Given the description of an element on the screen output the (x, y) to click on. 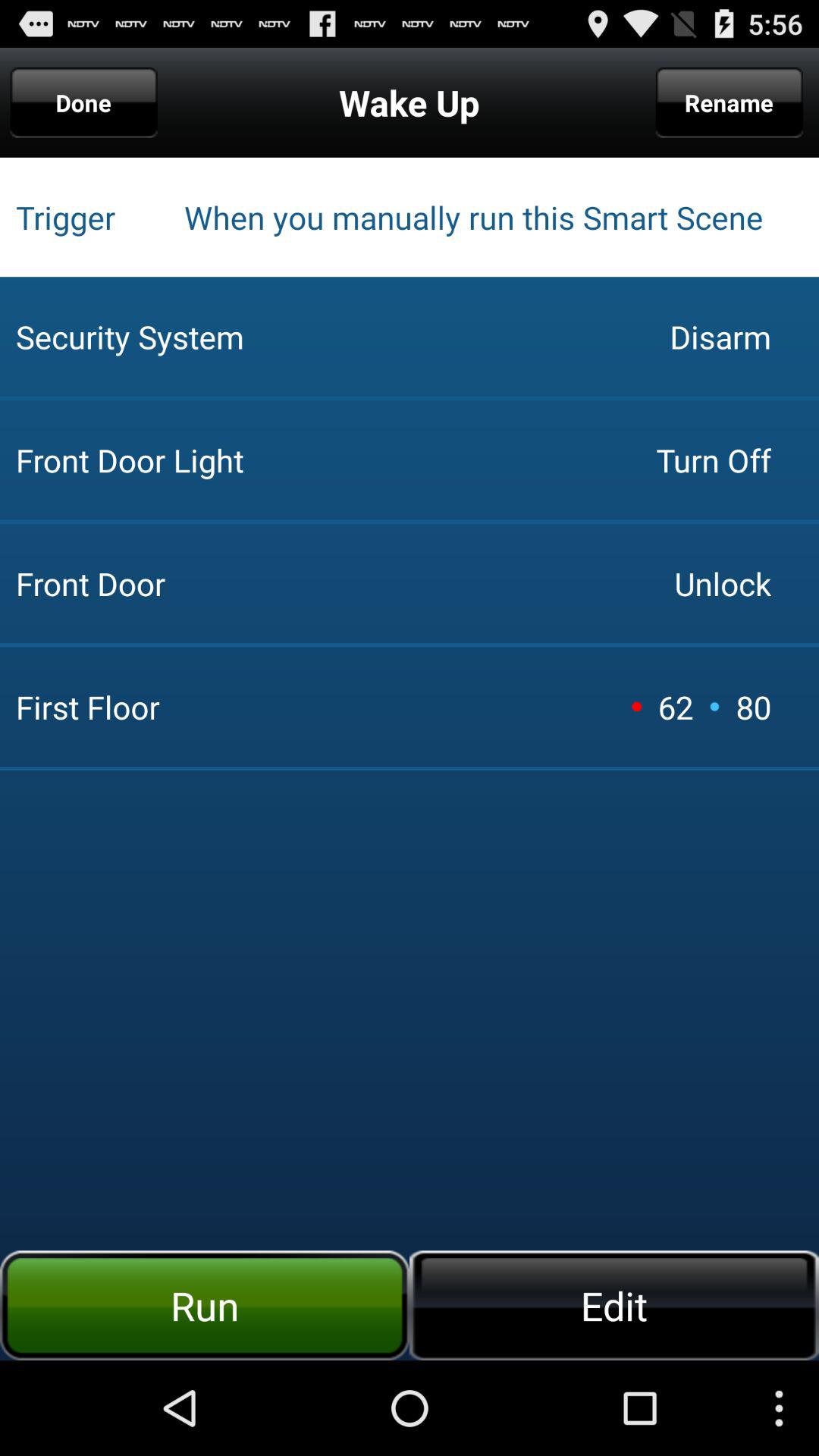
open the icon to the left of 80 item (714, 706)
